Given the description of an element on the screen output the (x, y) to click on. 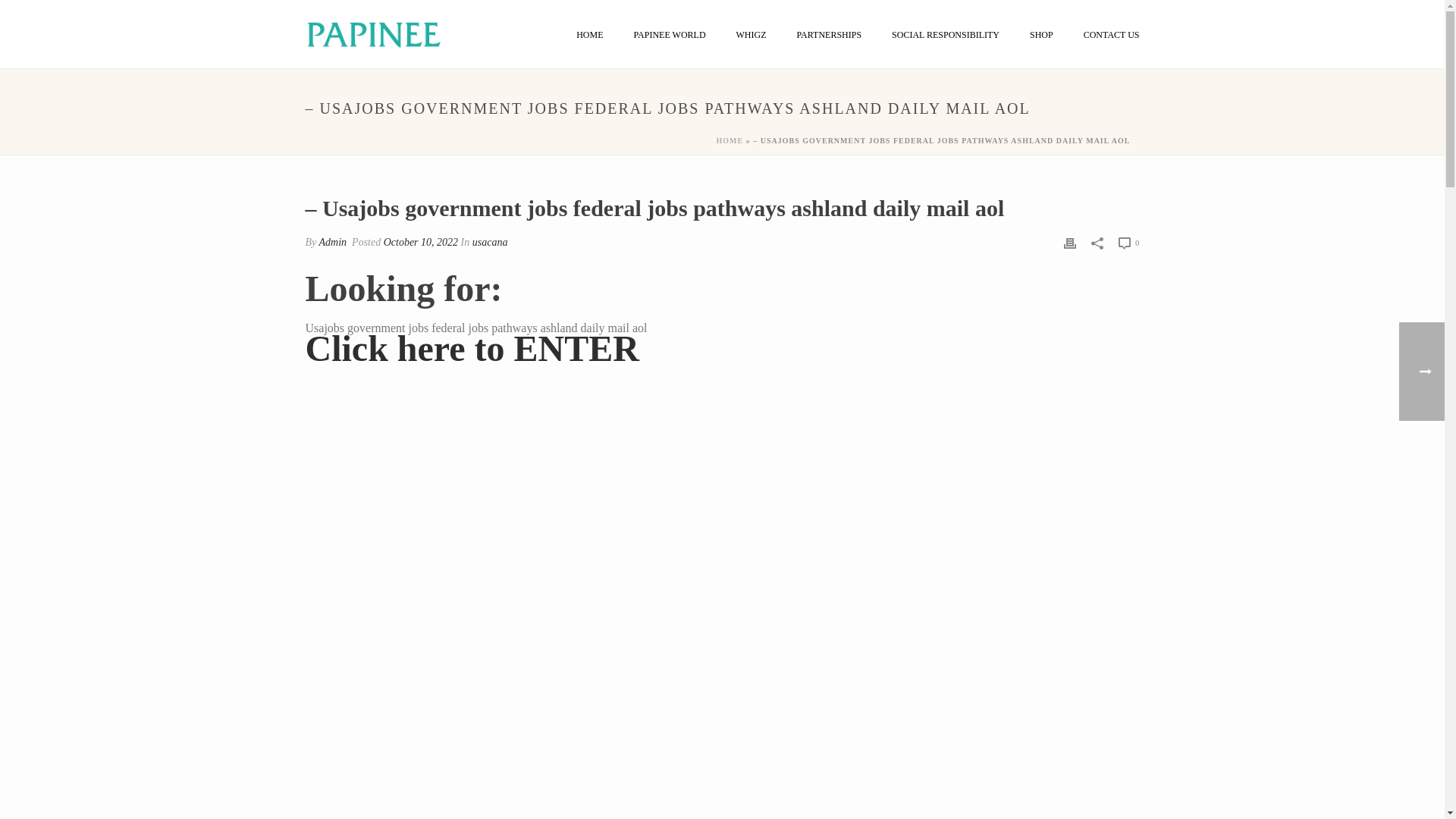
WHIGZ (750, 34)
PAPINEE WORLD (669, 34)
Posts by Admin (332, 242)
WHIGZ (750, 34)
SOCIAL RESPONSIBILITY (945, 34)
0 (1128, 242)
usacana (489, 242)
SHOP (1041, 34)
Admin (332, 242)
CONTACT US (1111, 34)
